Given the description of an element on the screen output the (x, y) to click on. 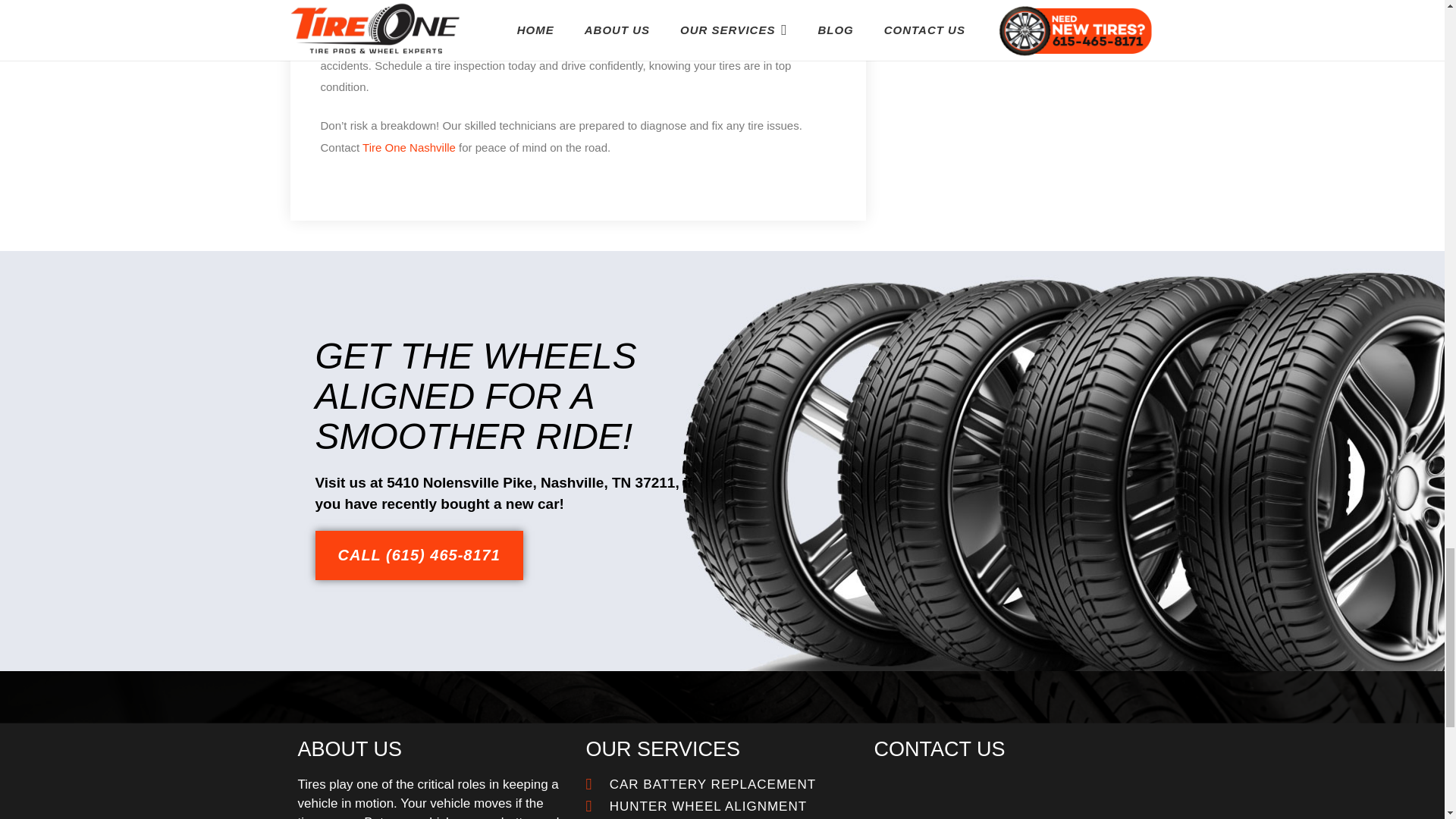
5410 Nolensville Pike Nashville, TN 37211 (1010, 796)
HUNTER WHEEL ALIGNMENT (722, 805)
Tire One Nashville (408, 146)
CAR BATTERY REPLACEMENT (722, 783)
